Given the description of an element on the screen output the (x, y) to click on. 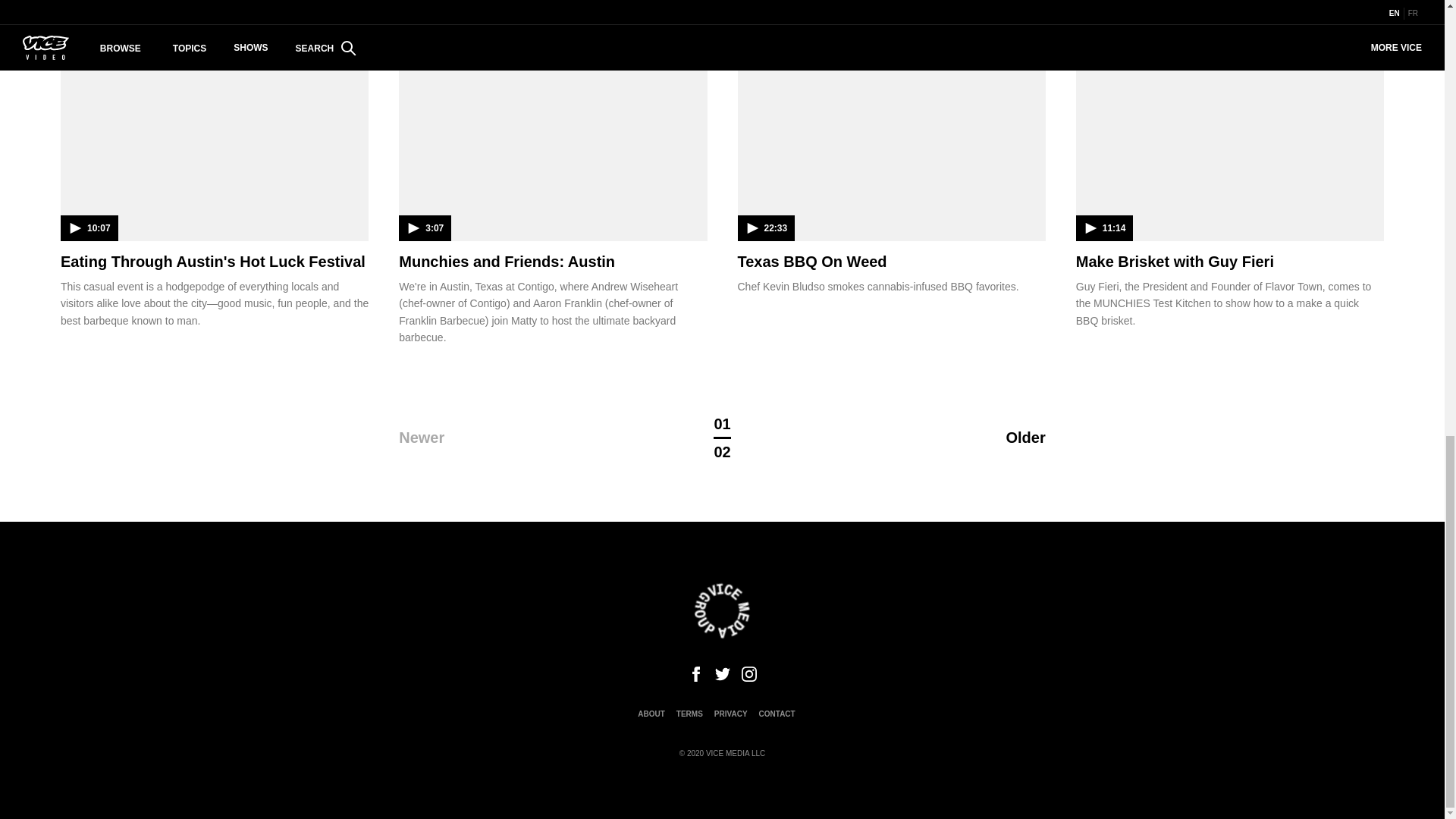
Newer (497, 437)
Older (947, 437)
